Given the description of an element on the screen output the (x, y) to click on. 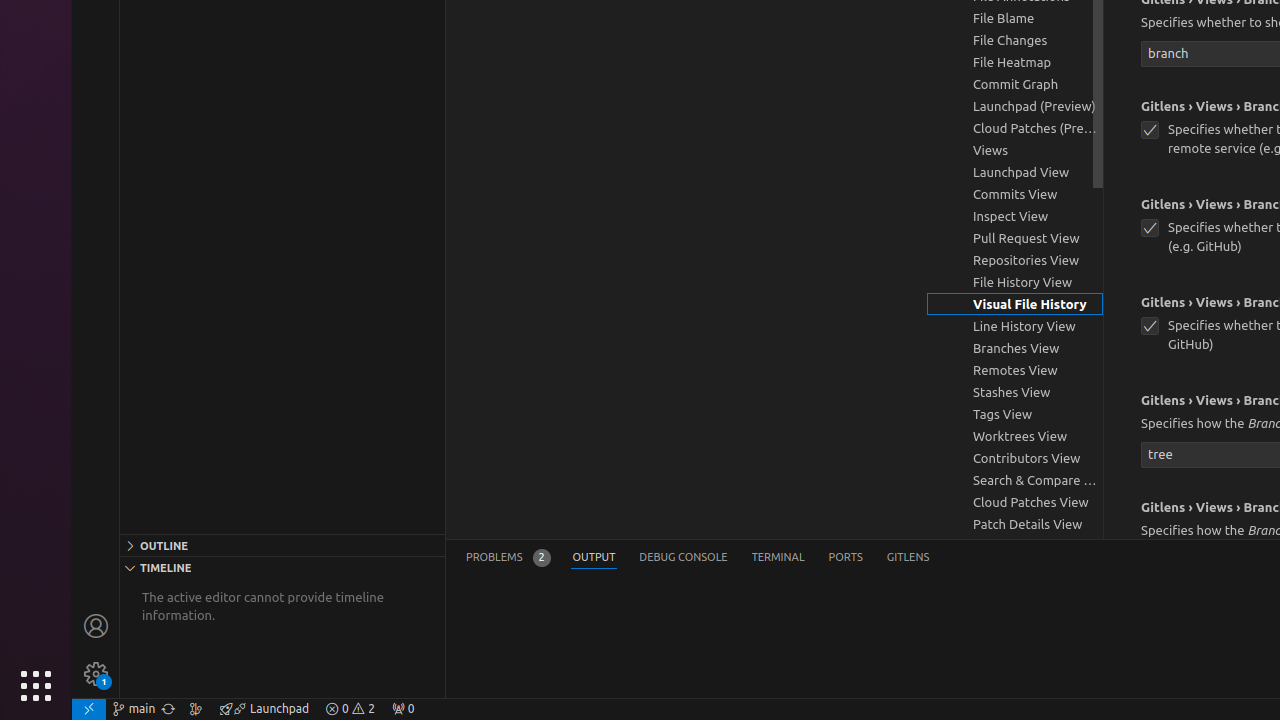
Output (Ctrl+K Ctrl+H) Element type: page-tab (594, 557)
Warnings: 2 Element type: push-button (350, 709)
Cloud Patches View, group Element type: tree-item (1015, 502)
Worktrees View, group Element type: tree-item (1015, 436)
